Given the description of an element on the screen output the (x, y) to click on. 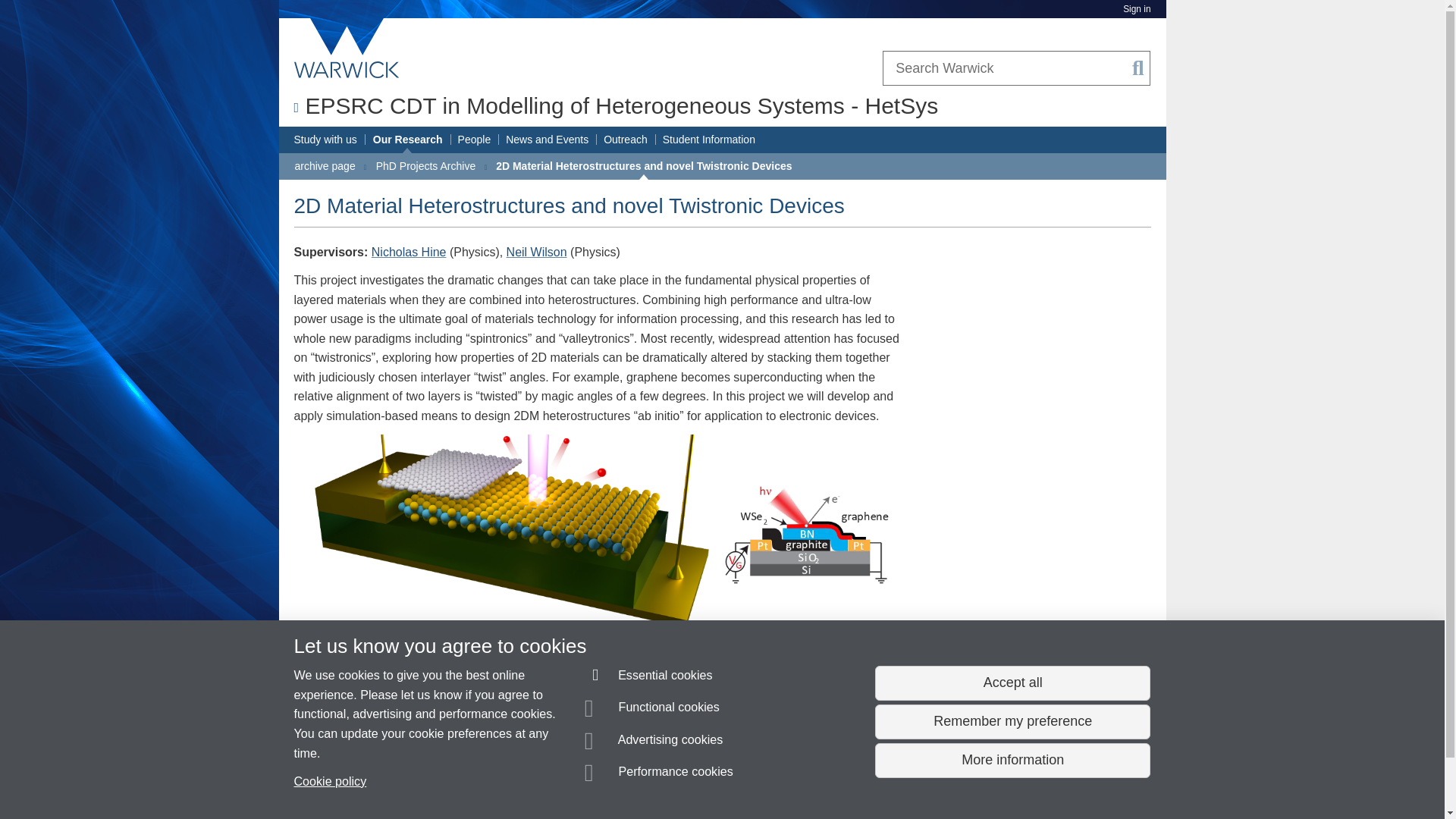
Essential cookies are always on (649, 677)
People (475, 139)
News and Events (546, 139)
Our Research (407, 139)
Sign in (1136, 9)
University of Warwick homepage (346, 48)
Study with us (325, 139)
